Given the description of an element on the screen output the (x, y) to click on. 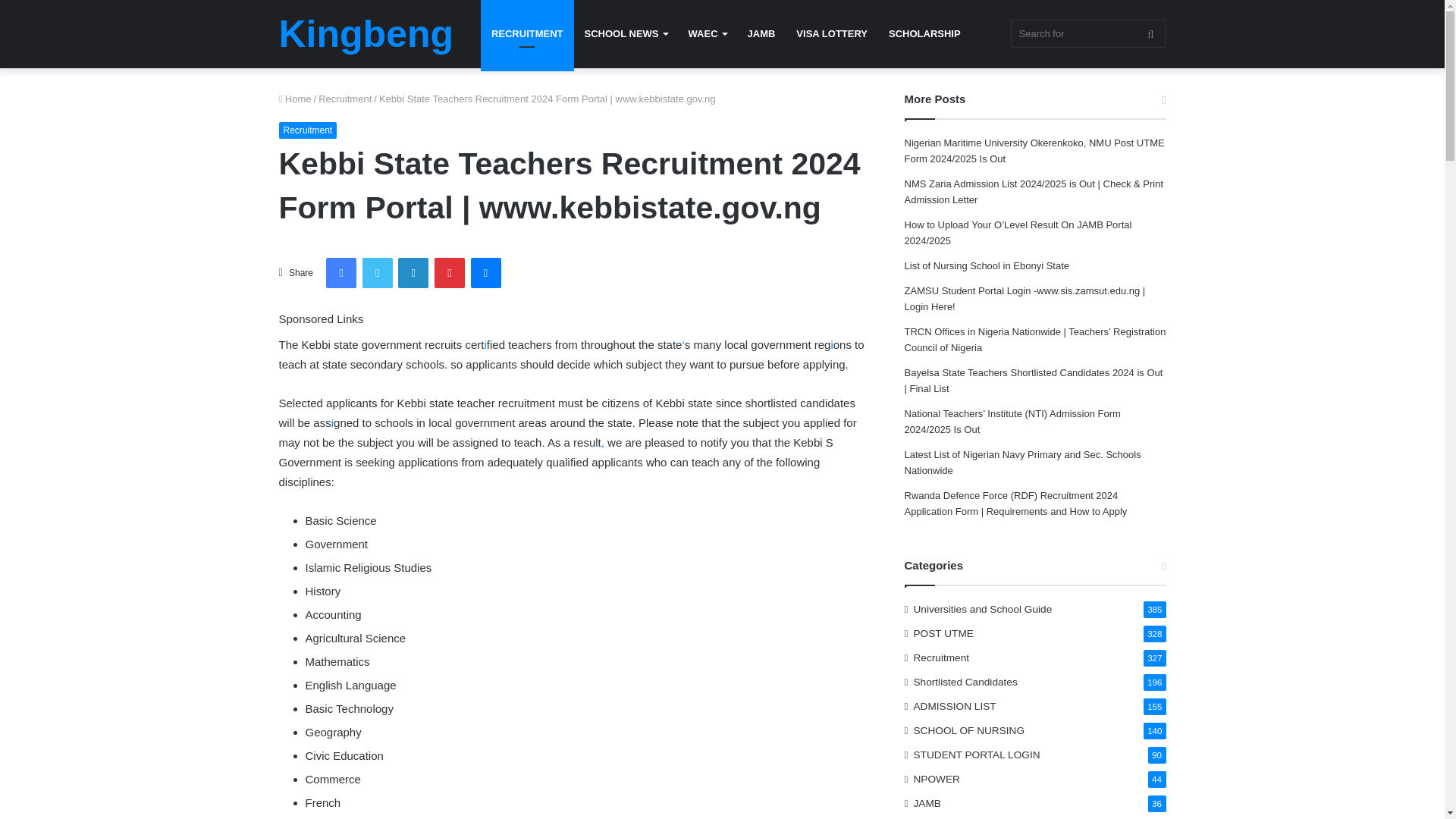
LinkedIn (412, 272)
Search for (1088, 33)
Kingbeng (366, 34)
Recruitment (344, 98)
Facebook (341, 272)
SCHOLARSHIP (924, 33)
Messenger (485, 272)
Pinterest (448, 272)
Twitter (377, 272)
Home (295, 98)
